Given the description of an element on the screen output the (x, y) to click on. 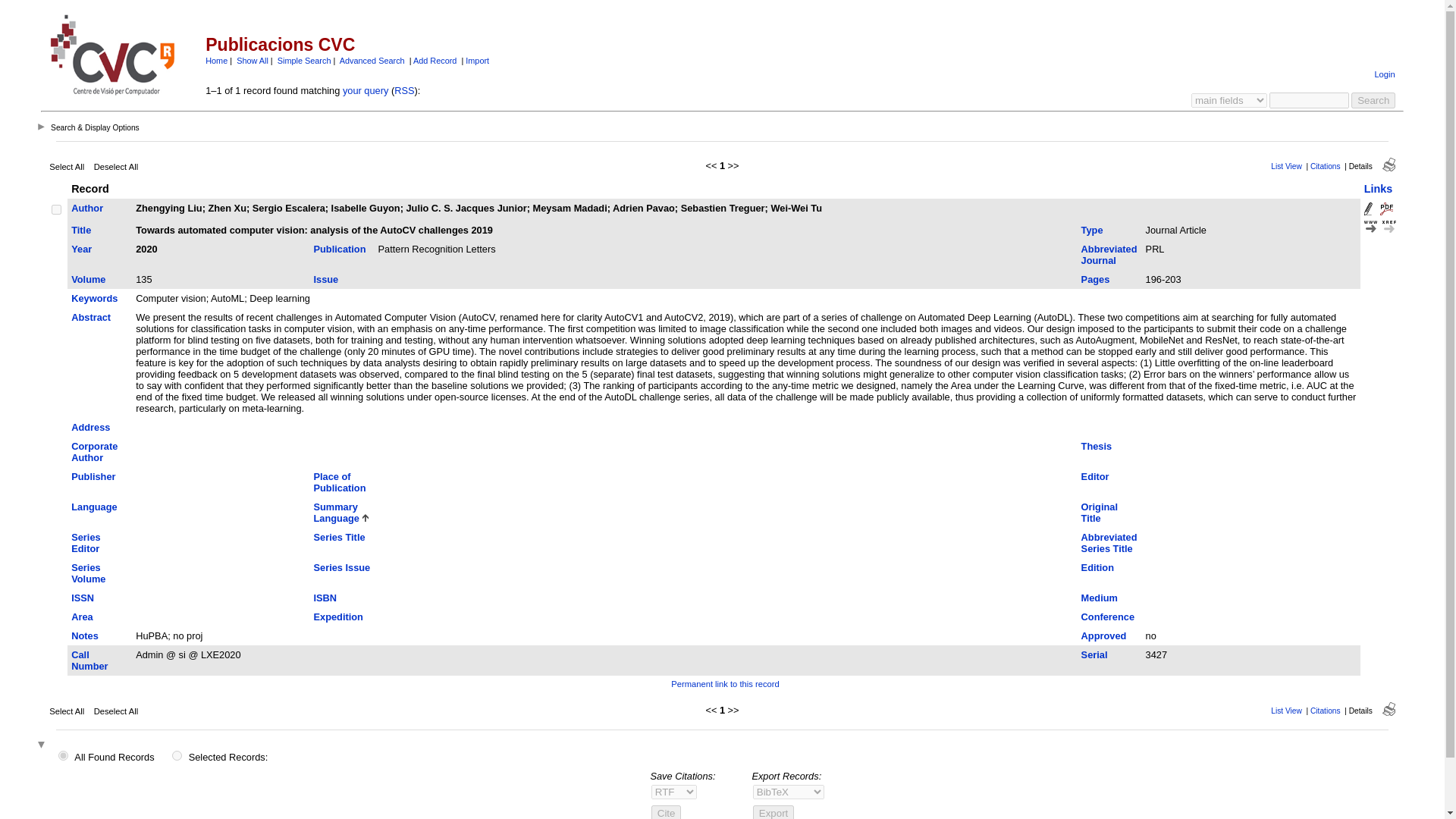
add a record to the database (435, 60)
Import (477, 60)
your query (365, 90)
Abbreviated Journal (1109, 254)
List View (1286, 166)
Issue (326, 279)
Pages (1095, 279)
Advanced Search (371, 60)
0 (176, 755)
Add Record (435, 60)
Search (1372, 100)
Search (1372, 100)
modify your current query (365, 90)
3427 (55, 209)
Publisher (93, 476)
